Given the description of an element on the screen output the (x, y) to click on. 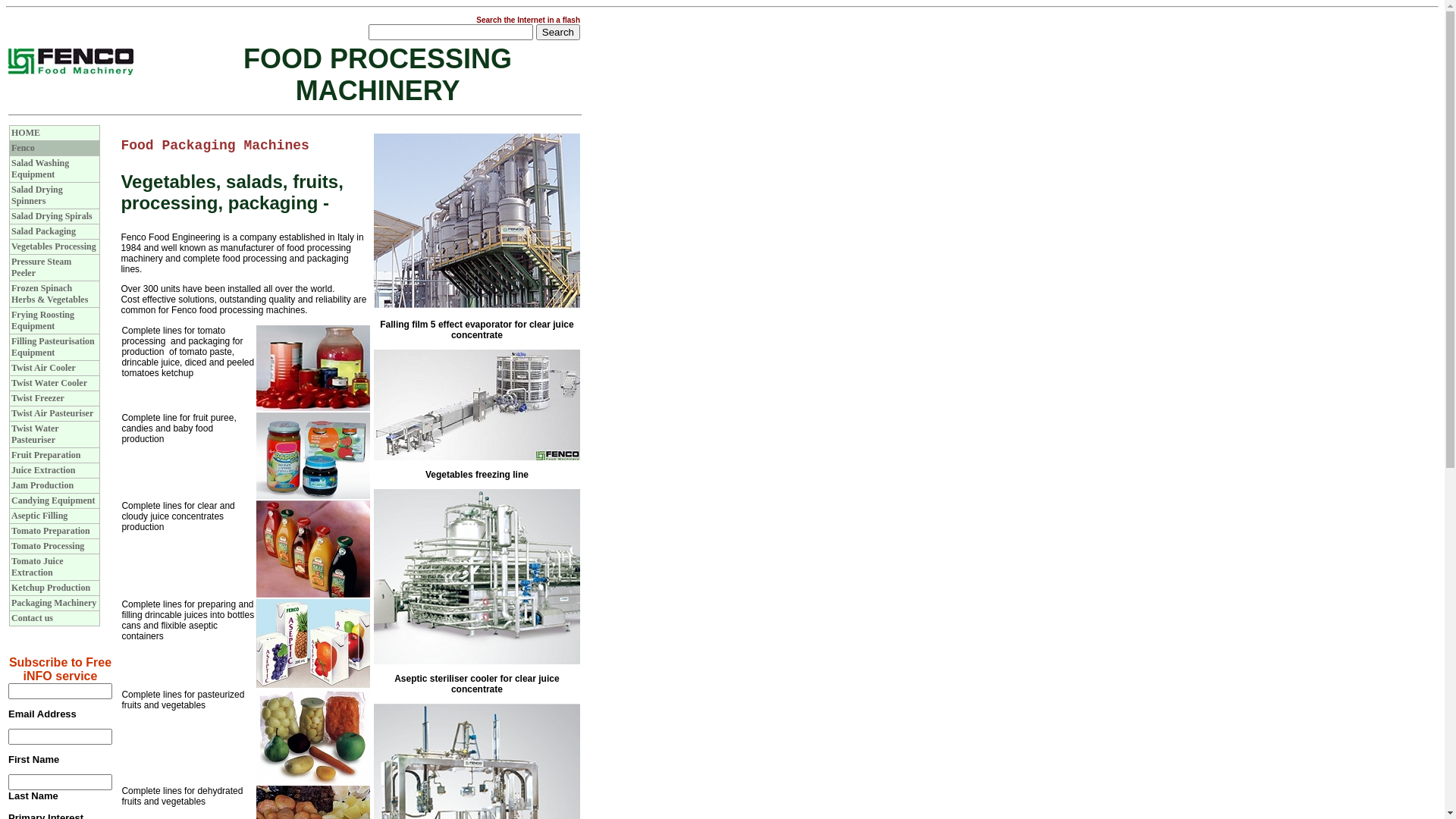
Filling Pasteurisation Equipment Element type: text (52, 346)
Ketchup Production Element type: text (50, 587)
Aseptic Filling Element type: text (39, 515)
Contact us Element type: text (32, 617)
Tomato Juice Extraction Element type: text (37, 566)
Juice Extraction Element type: text (43, 469)
Salad Washing Equipment Element type: text (40, 168)
Tomato Processing Element type: text (47, 545)
Salad Drying Spirals Element type: text (51, 215)
Twist Air Pasteuriser Element type: text (52, 412)
Candying Equipment Element type: text (52, 500)
Vegetables Processing Element type: text (53, 246)
Pressure Steam Peeler Element type: text (41, 267)
Twist Freezer Element type: text (37, 397)
Packaging Machinery Element type: text (53, 602)
Frying Roosting Equipment Element type: text (42, 320)
Fruit Preparation Element type: text (45, 454)
Salad Packaging Element type: text (43, 230)
Twist Air Cooler Element type: text (43, 367)
Search Element type: text (558, 32)
Twist Water Cooler Element type: text (49, 382)
Fenco Element type: text (22, 147)
Twist Water Pasteuriser Element type: text (34, 434)
Tomato Preparation Element type: text (50, 530)
Jam Production Element type: text (42, 485)
Salad Drying Spinners Element type: text (36, 195)
HOME Element type: text (25, 132)
Frozen Spinach Herbs & Vegetables Element type: text (49, 293)
